Given the description of an element on the screen output the (x, y) to click on. 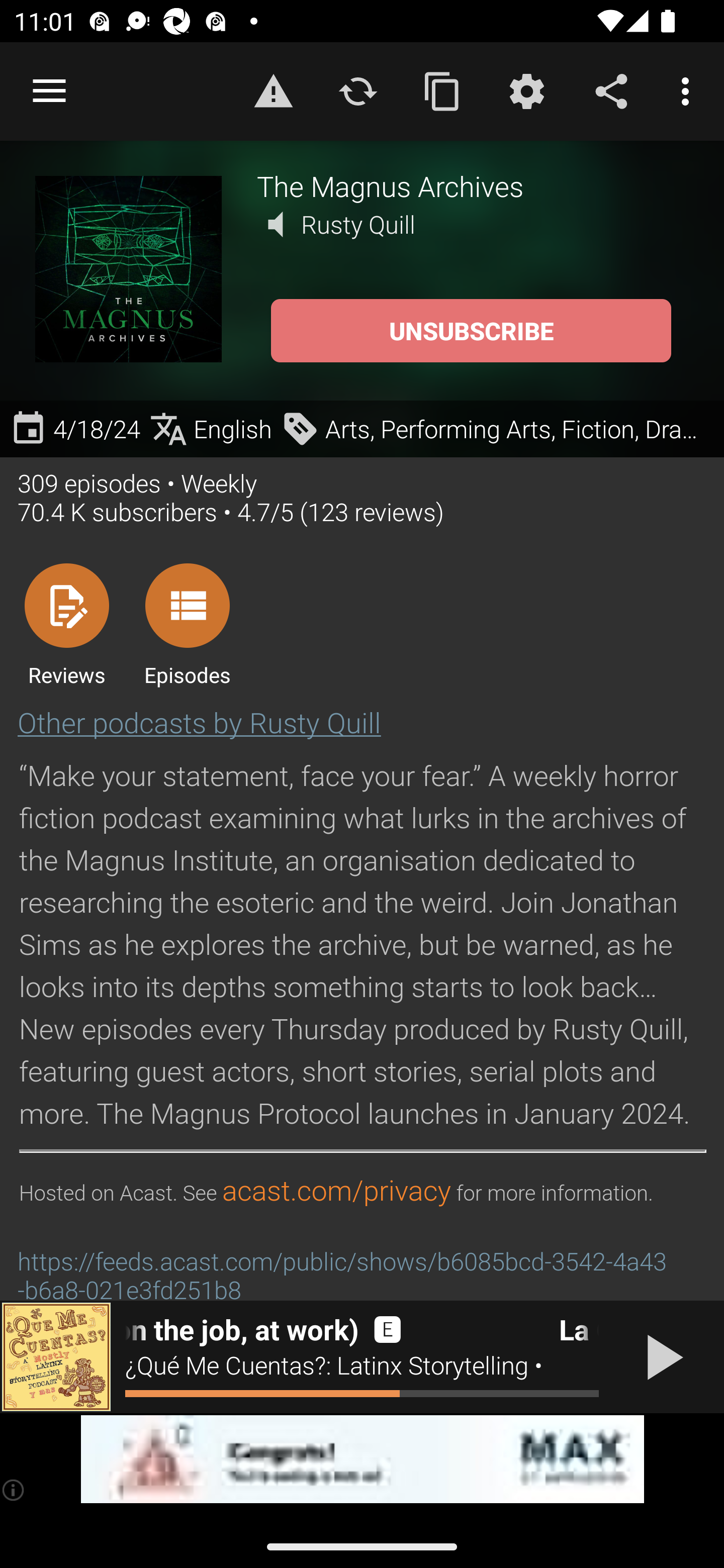
Open navigation sidebar (49, 91)
Report inappropriate content (272, 90)
Refresh podcast description (357, 90)
Copy feed url to clipboard (442, 90)
Custom Settings (526, 90)
Share the podcast (611, 90)
More options (688, 90)
The Magnus Archives (472, 185)
Rusty Quill (358, 223)
UNSUBSCRIBE (470, 330)
Arts, Performing Arts, Fiction, Drama, Fiction (497, 428)
Reviews (66, 623)
Episodes (187, 623)
Other podcasts by Rusty Quill (198, 721)
acast.com/privacy (336, 1191)
Play / Pause (660, 1356)
app-monetization (362, 1459)
(i) (14, 1489)
